Given the description of an element on the screen output the (x, y) to click on. 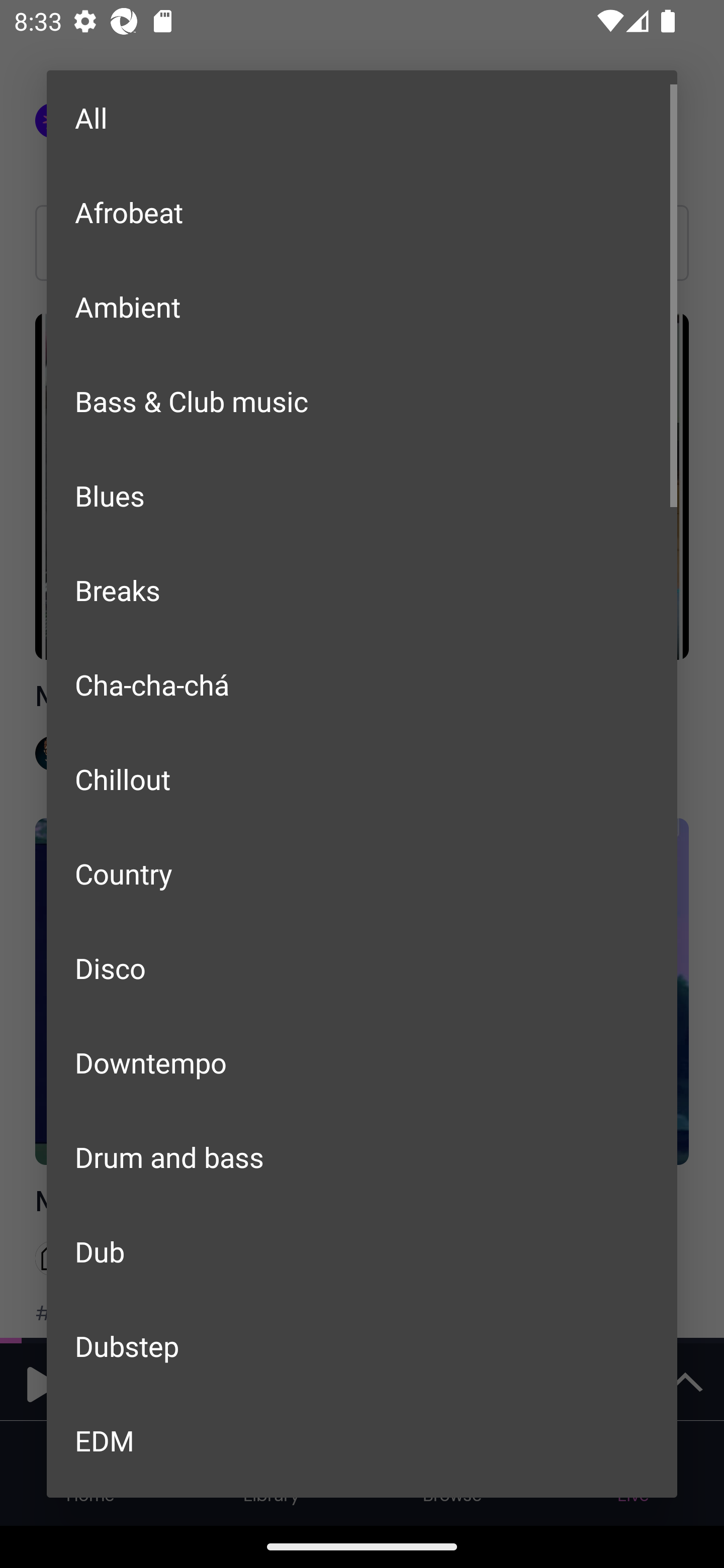
All (361, 117)
Afrobeat (361, 211)
Ambient (361, 306)
Bass & Club music (361, 401)
Blues (361, 495)
Breaks (361, 589)
Cha-cha-chá (361, 684)
Chillout (361, 779)
Country (361, 873)
Disco (361, 967)
Downtempo (361, 1062)
Drum and bass (361, 1157)
Dub (361, 1251)
Dubstep (361, 1345)
EDM (361, 1440)
